Given the description of an element on the screen output the (x, y) to click on. 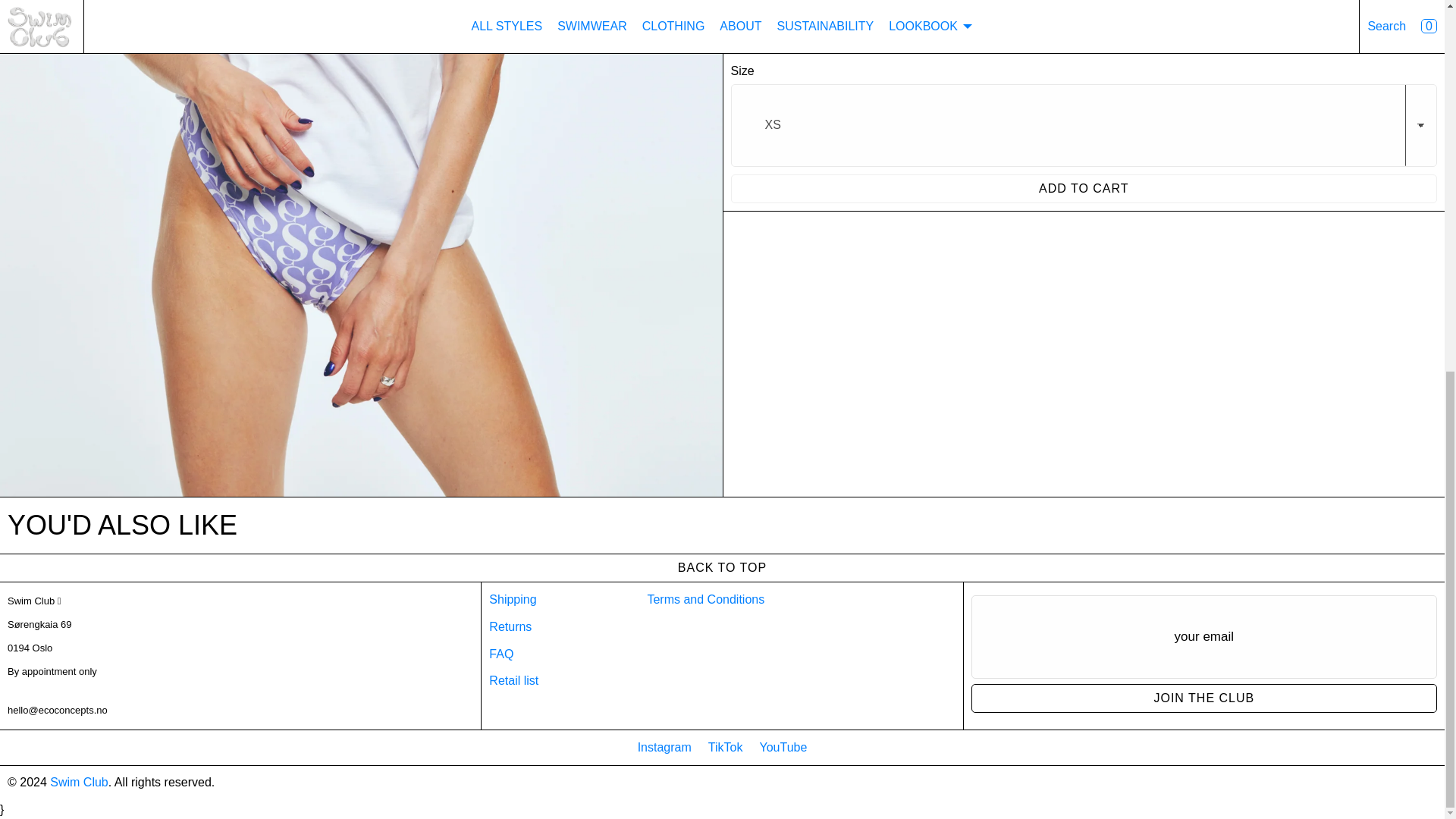
Shipping (512, 599)
Instagram (664, 747)
Terms and Conditions (705, 599)
TikTok (724, 747)
JOIN THE CLUB (1204, 697)
Returns (510, 626)
Retail list (513, 680)
